Given the description of an element on the screen output the (x, y) to click on. 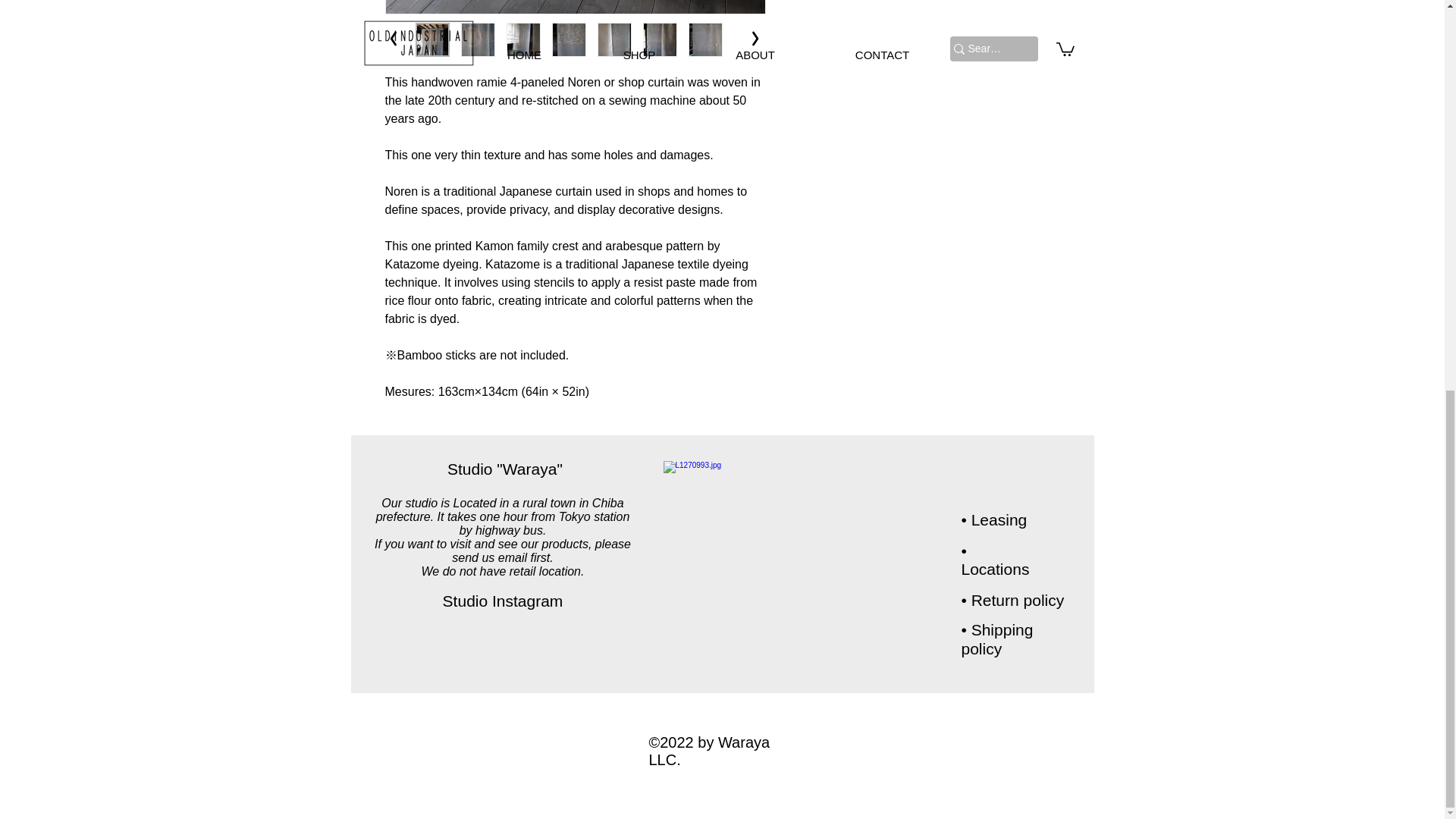
Studio Insta (484, 600)
gram (545, 600)
 hour from Tokyo station by highway bus. (545, 523)
